Given the description of an element on the screen output the (x, y) to click on. 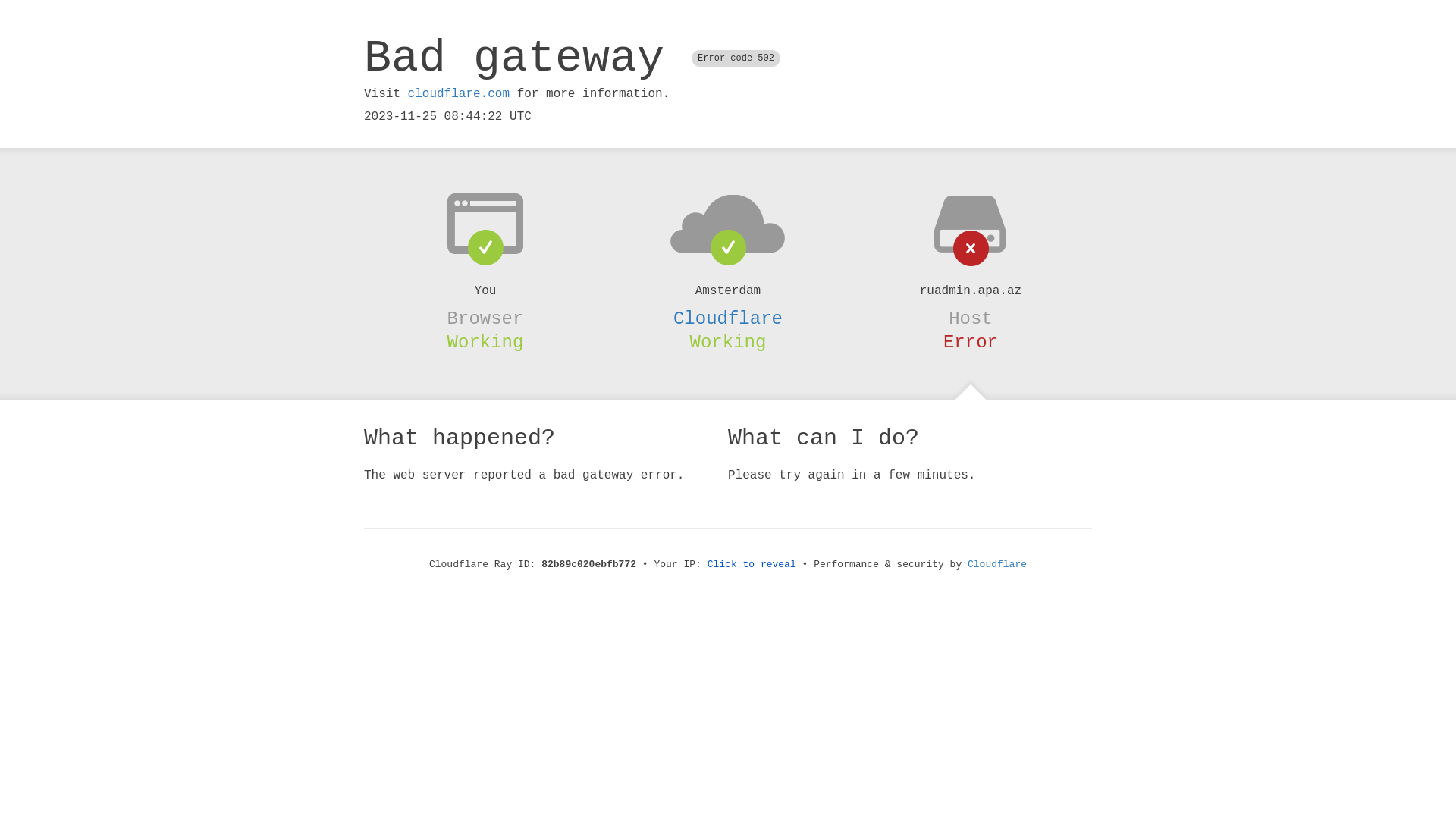
Cloudflare Element type: text (996, 564)
Cloudflare Element type: text (727, 318)
cloudflare.com Element type: text (458, 93)
Click to reveal Element type: text (751, 564)
